Given the description of an element on the screen output the (x, y) to click on. 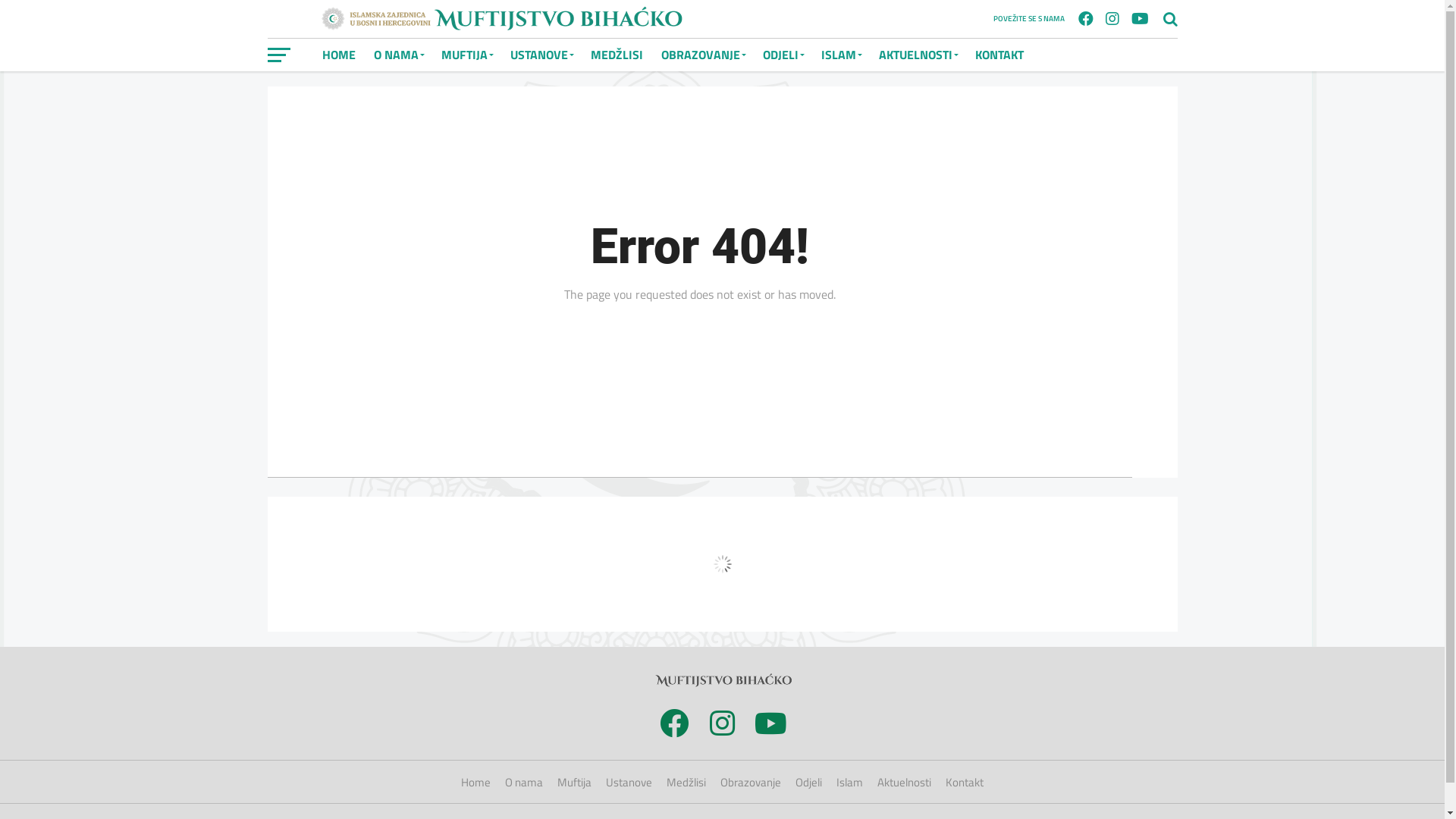
Muftija Element type: text (574, 781)
Kontakt Element type: text (964, 781)
Ustanove Element type: text (628, 781)
Aktuelnosti Element type: text (904, 781)
HOME Element type: text (338, 54)
ODJELI Element type: text (782, 54)
AKTUELNOSTI Element type: text (917, 54)
Odjeli Element type: text (808, 781)
Home Element type: text (475, 781)
O nama Element type: text (523, 781)
O NAMA Element type: text (397, 54)
KONTAKT Element type: text (999, 54)
Obrazovanje Element type: text (750, 781)
OBRAZOVANJE Element type: text (702, 54)
ISLAM Element type: text (840, 54)
Islam Element type: text (849, 781)
USTANOVE Element type: text (540, 54)
MUFTIJA Element type: text (466, 54)
